Given the description of an element on the screen output the (x, y) to click on. 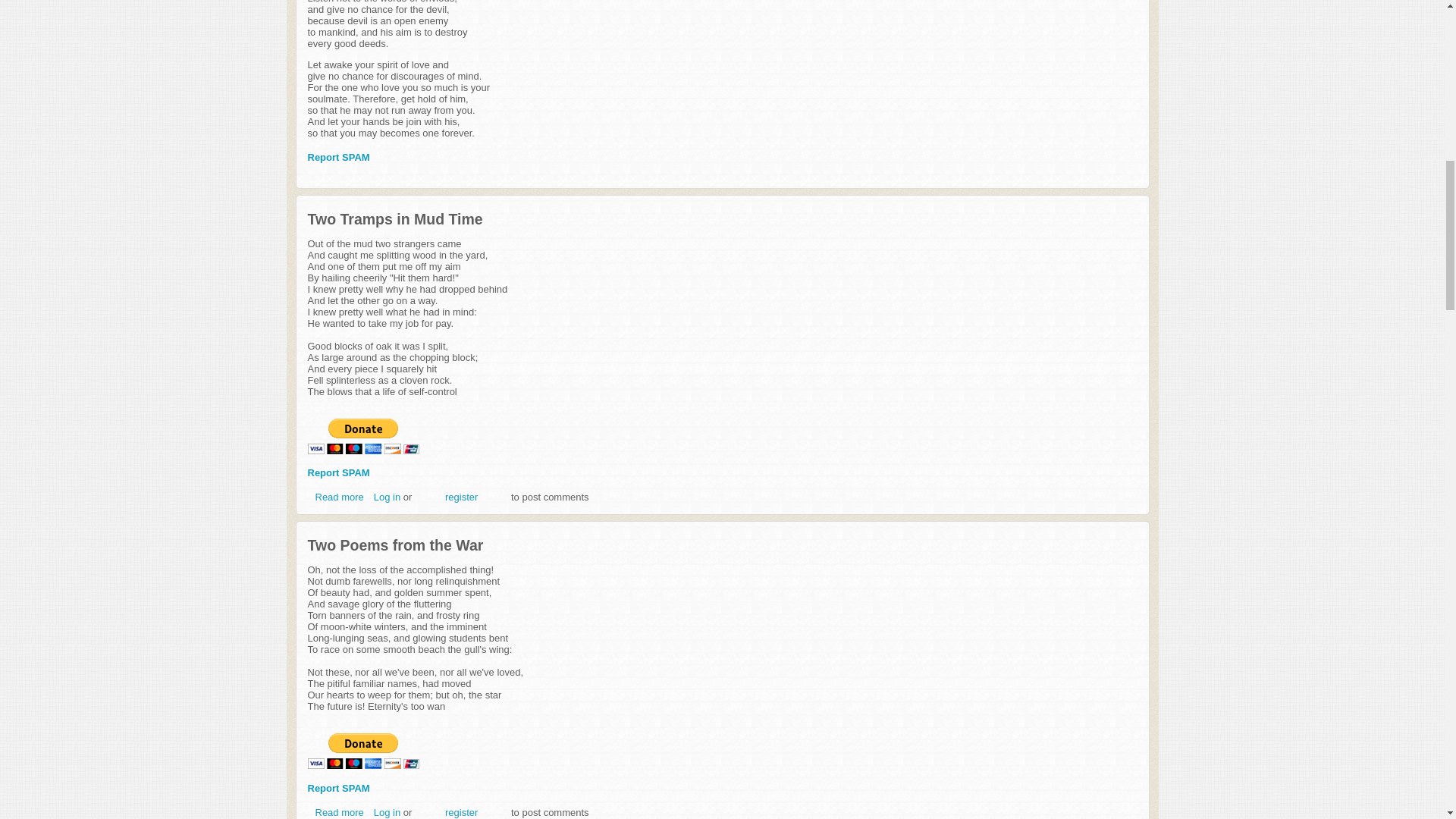
PayPal - The safer, easier way to pay online! (363, 436)
Report SPAM (338, 787)
Report SPAM (338, 472)
register (461, 812)
register (461, 496)
Log in (387, 812)
Report SPAM (338, 156)
Two Tramps in Mud Time (339, 496)
Two Poems from the War (339, 812)
Log in (339, 496)
PayPal - The safer, easier way to pay online! (339, 812)
